Given the description of an element on the screen output the (x, y) to click on. 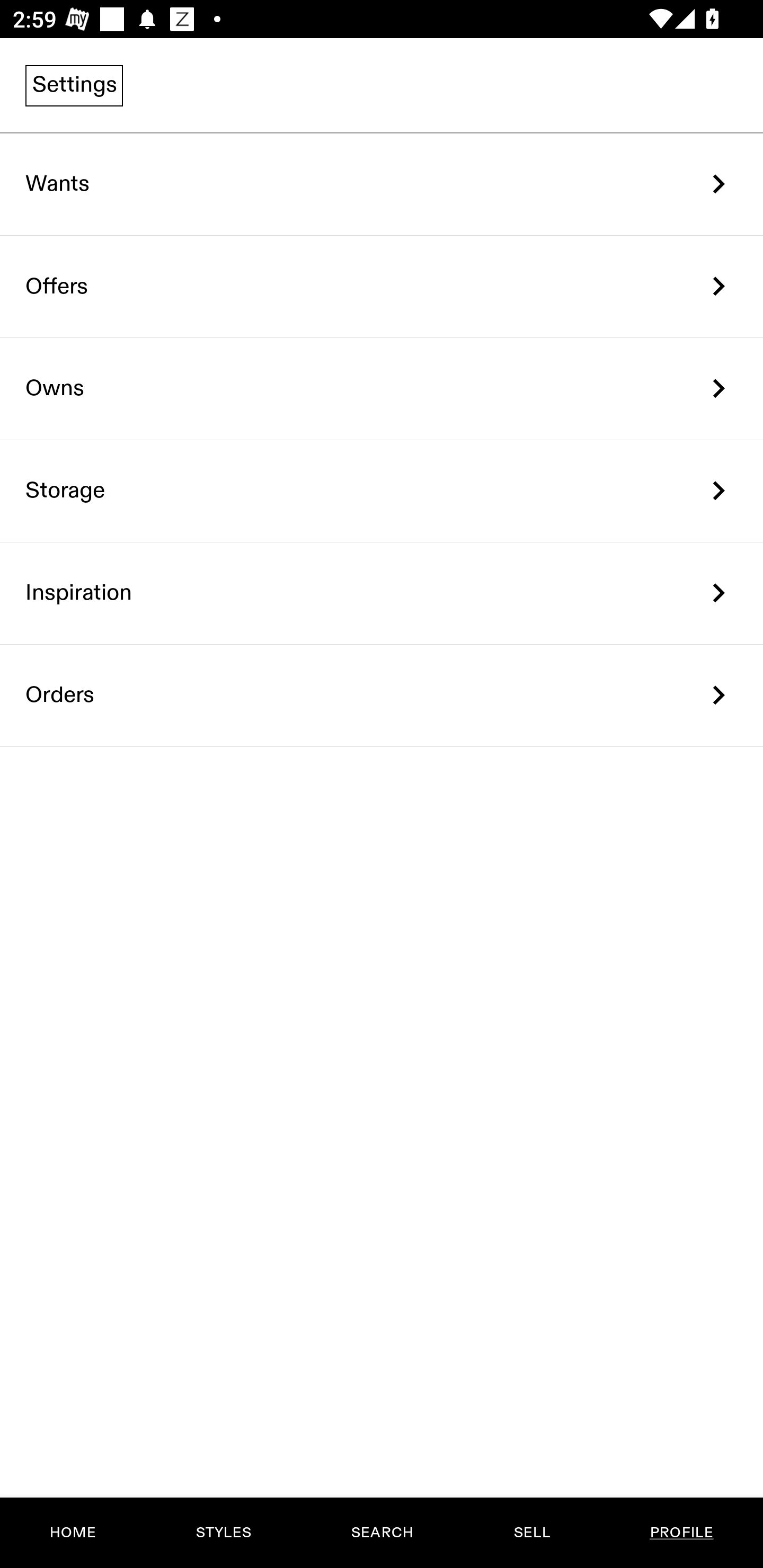
Settings (73, 85)
Wants (381, 184)
Offers (381, 286)
Owns (381, 388)
Storage (381, 491)
Inspiration (381, 593)
Orders (381, 695)
HOME (72, 1532)
STYLES (222, 1532)
SEARCH (381, 1532)
SELL (531, 1532)
PROFILE (681, 1532)
